Given the description of an element on the screen output the (x, y) to click on. 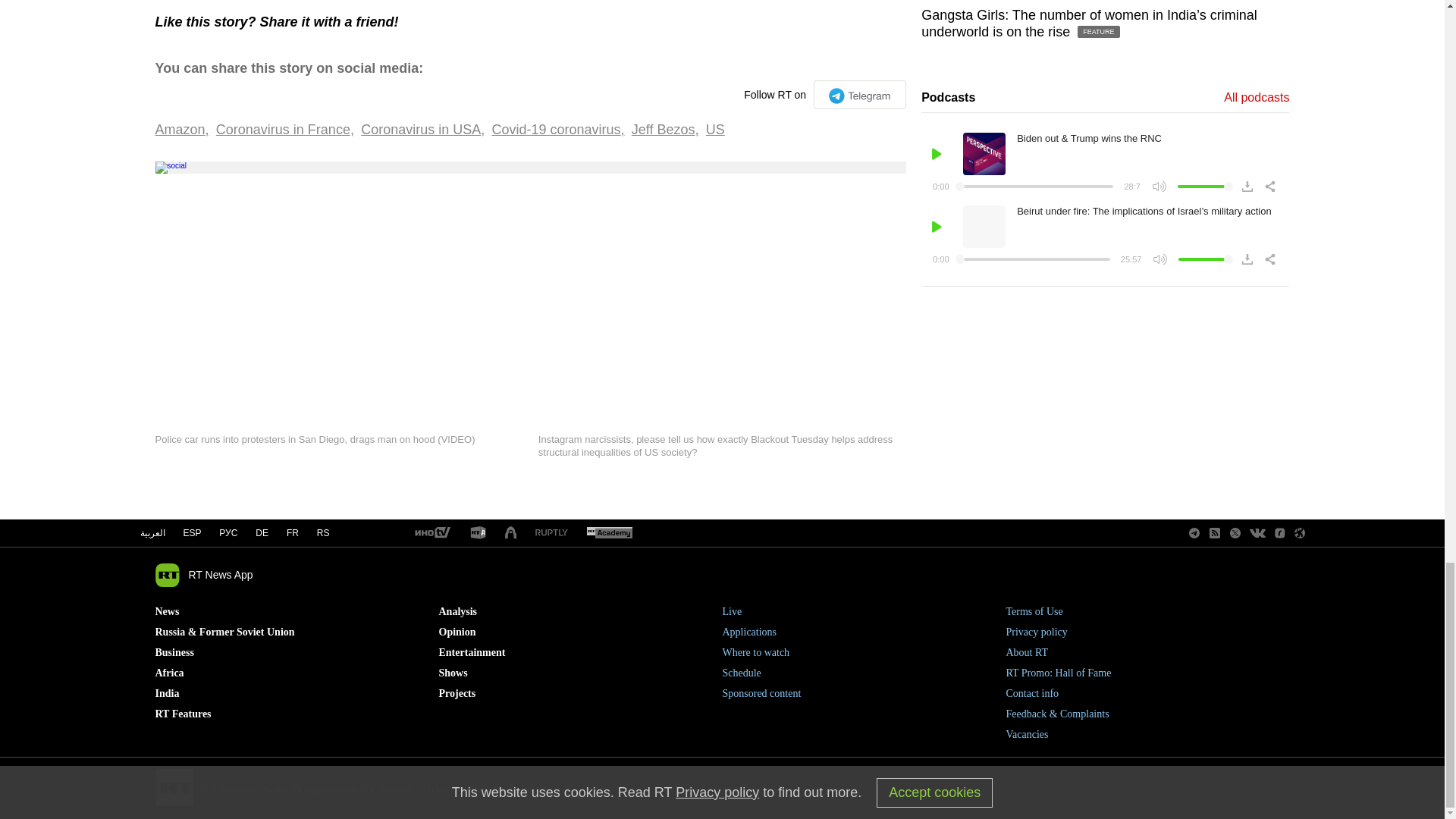
RT  (551, 533)
RT  (431, 533)
RT  (478, 533)
RT  (608, 533)
